Given the description of an element on the screen output the (x, y) to click on. 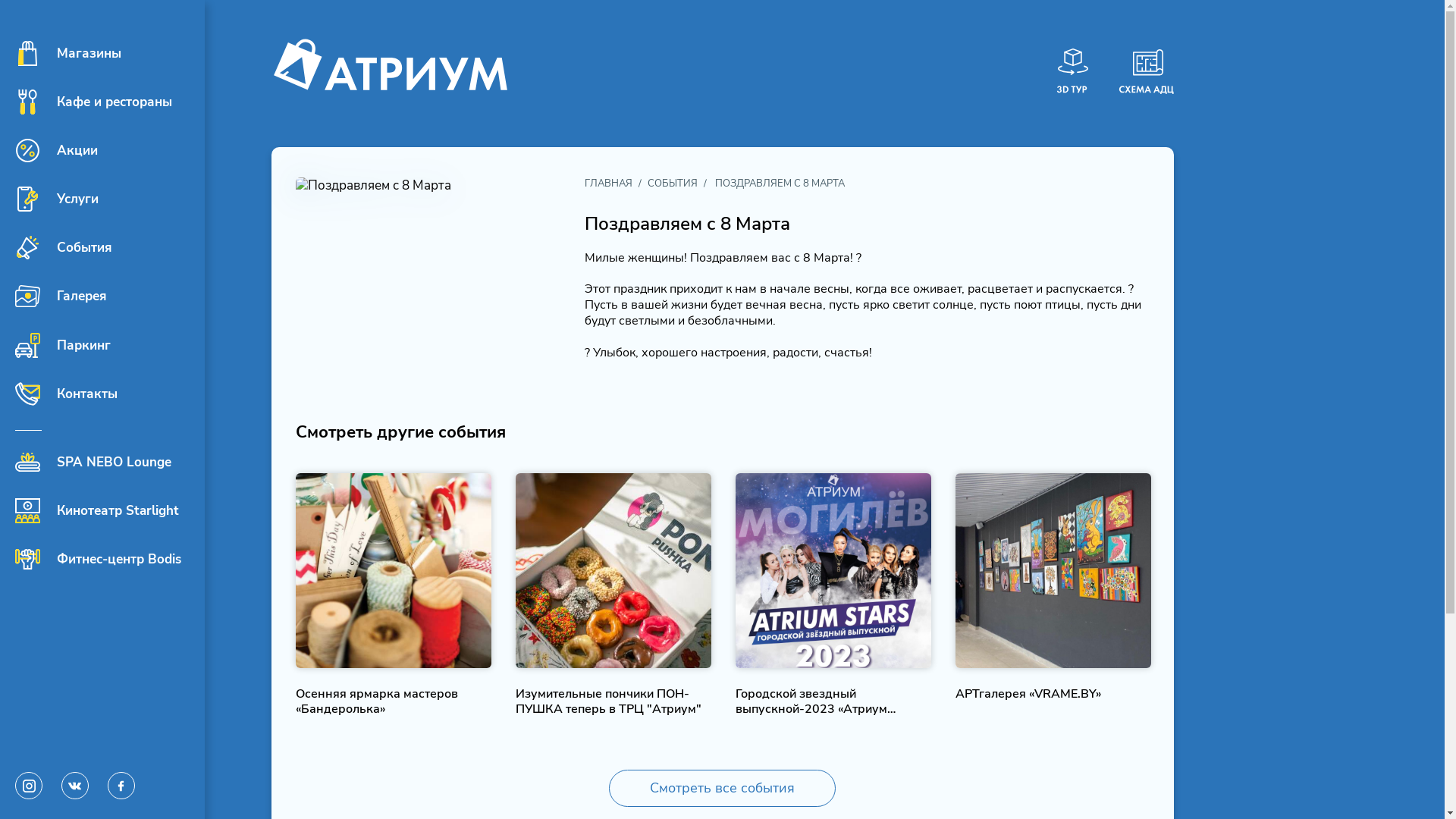
SPA NEBO Lounge Element type: text (93, 461)
